Given the description of an element on the screen output the (x, y) to click on. 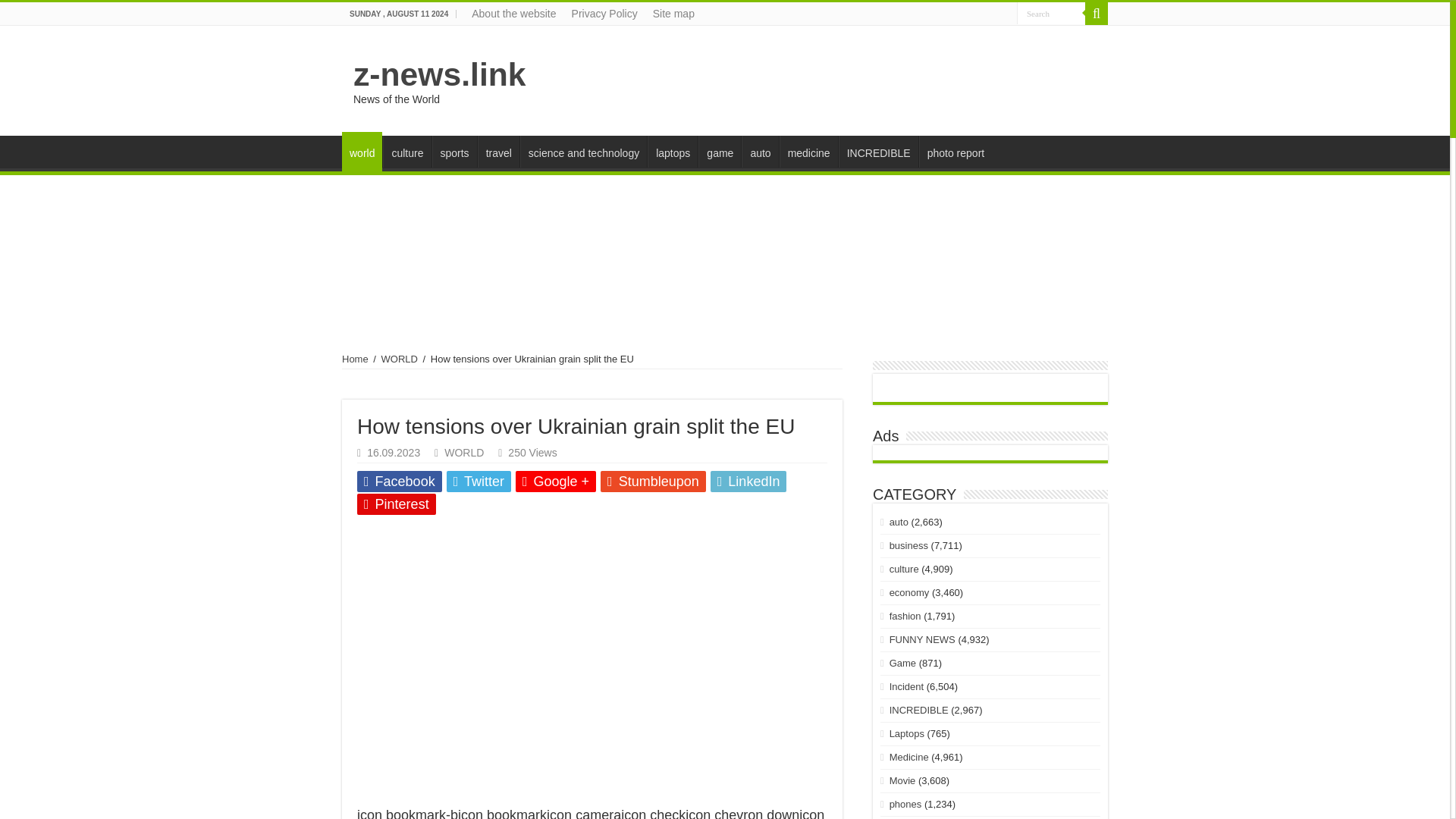
LinkedIn (748, 481)
Search (1096, 13)
travel (498, 151)
Twitter (478, 481)
game (719, 151)
Pinterest (395, 504)
culture (406, 151)
INCREDIBLE (878, 151)
laptops (672, 151)
Advertisement (820, 74)
